Given the description of an element on the screen output the (x, y) to click on. 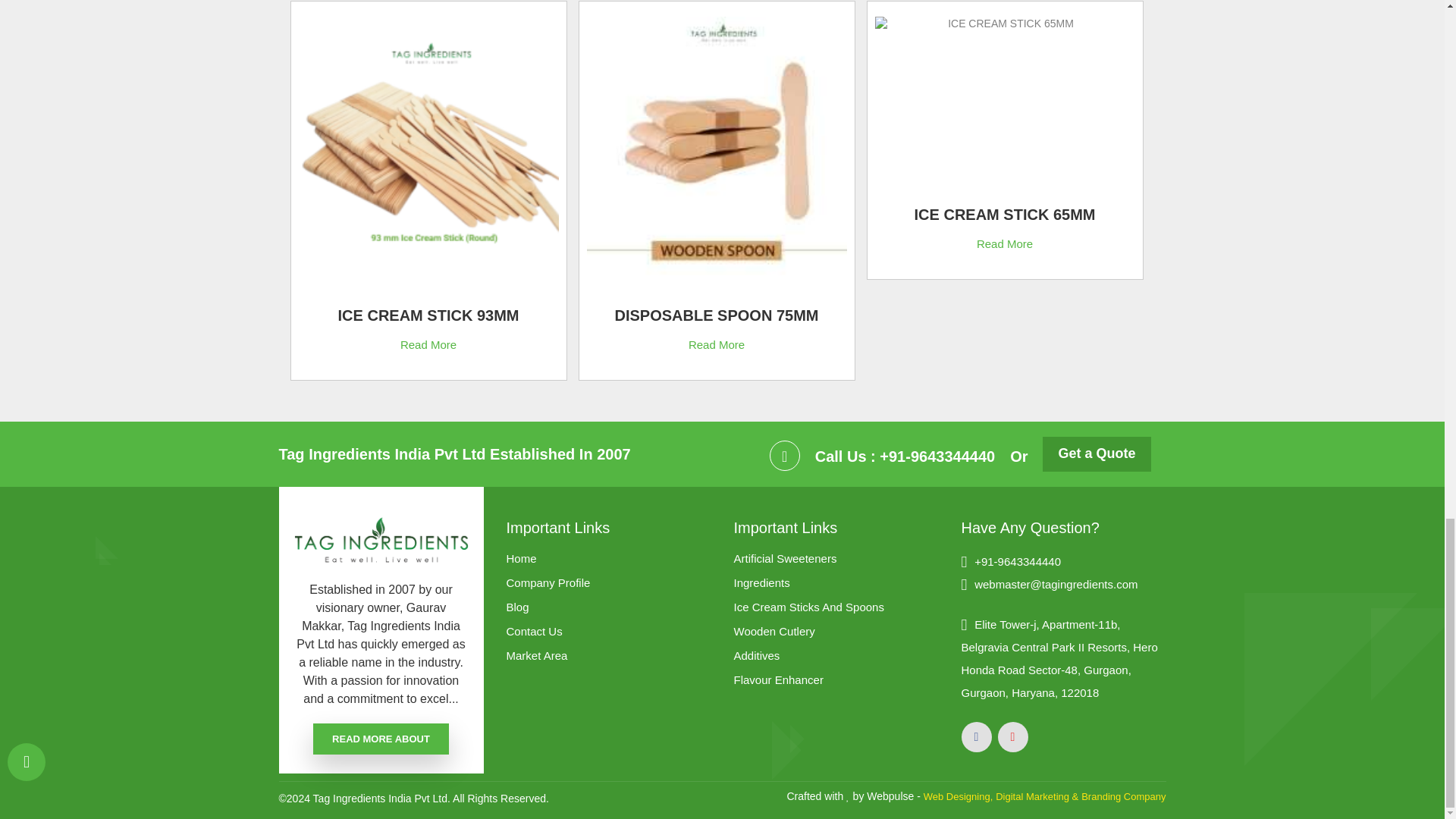
Read More (427, 343)
DISPOSABLE SPOON 75MM (716, 318)
ICE CREAM STICK 93MM (427, 318)
ICE CREAM STICK 65MM (1004, 218)
Read More (1004, 244)
Read More (716, 343)
